Given the description of an element on the screen output the (x, y) to click on. 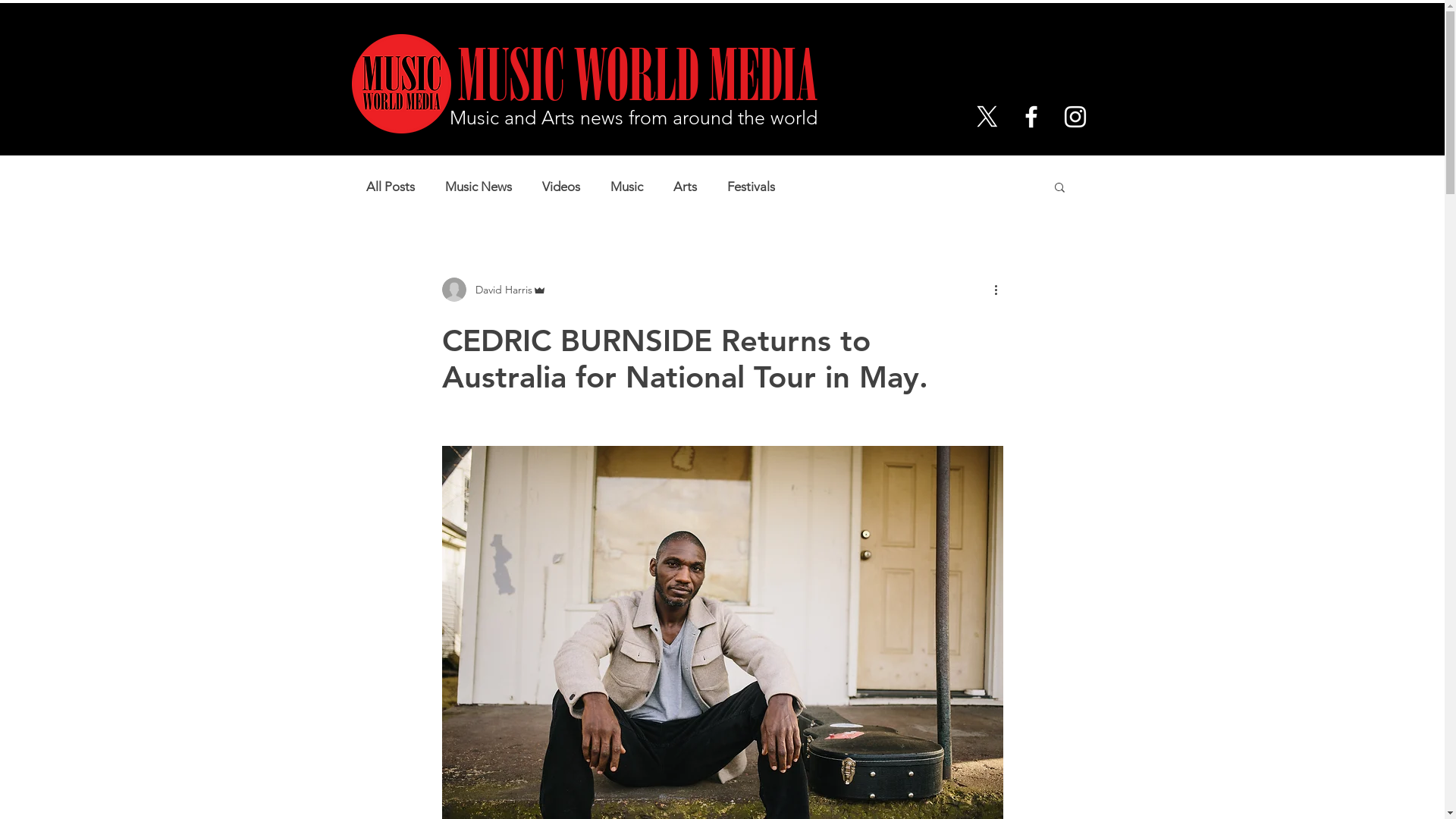
Festivals Element type: text (750, 186)
Music Element type: text (625, 186)
Arts Element type: text (684, 186)
Videos Element type: text (560, 186)
David Harris Element type: text (493, 289)
All Posts Element type: text (389, 186)
Music News Element type: text (477, 186)
MUSIC WORLD MEDIA Element type: text (623, 76)
